Given the description of an element on the screen output the (x, y) to click on. 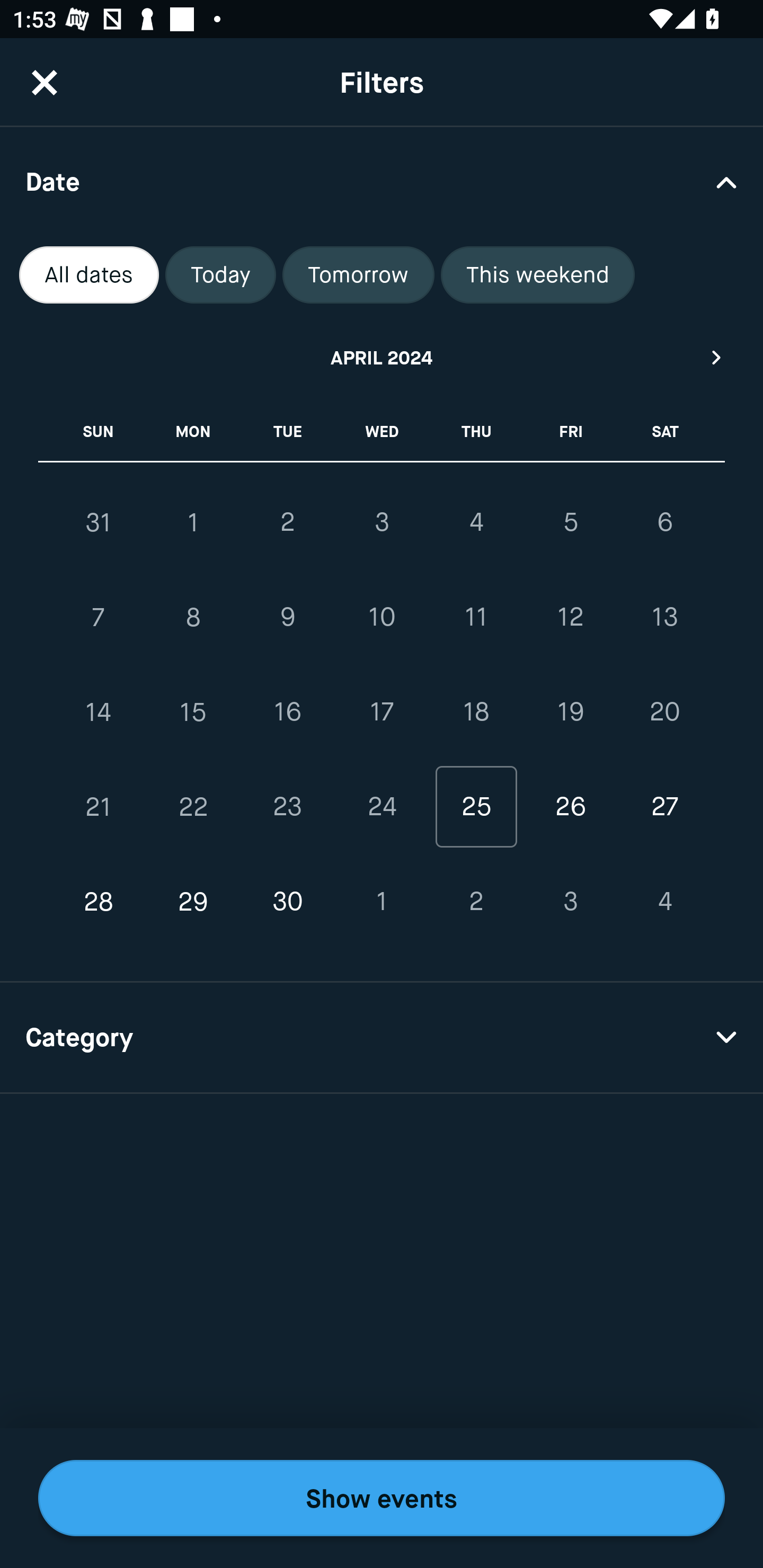
CloseButton (44, 82)
Date Drop Down Arrow (381, 181)
All dates (88, 274)
Today (220, 274)
Tomorrow (358, 274)
This weekend (537, 274)
Next (717, 357)
31 (98, 522)
1 (192, 522)
2 (287, 522)
3 (381, 522)
4 (475, 522)
5 (570, 522)
6 (664, 522)
7 (98, 617)
8 (192, 617)
9 (287, 617)
10 (381, 617)
11 (475, 617)
12 (570, 617)
13 (664, 617)
14 (98, 711)
15 (192, 711)
16 (287, 711)
17 (381, 711)
18 (475, 711)
19 (570, 711)
20 (664, 711)
21 (98, 806)
22 (192, 806)
23 (287, 806)
24 (381, 806)
25 (475, 806)
26 (570, 806)
27 (664, 806)
28 (98, 901)
29 (192, 901)
30 (287, 901)
1 (381, 901)
2 (475, 901)
3 (570, 901)
4 (664, 901)
Category Drop Down Arrow (381, 1038)
Show events (381, 1497)
